Given the description of an element on the screen output the (x, y) to click on. 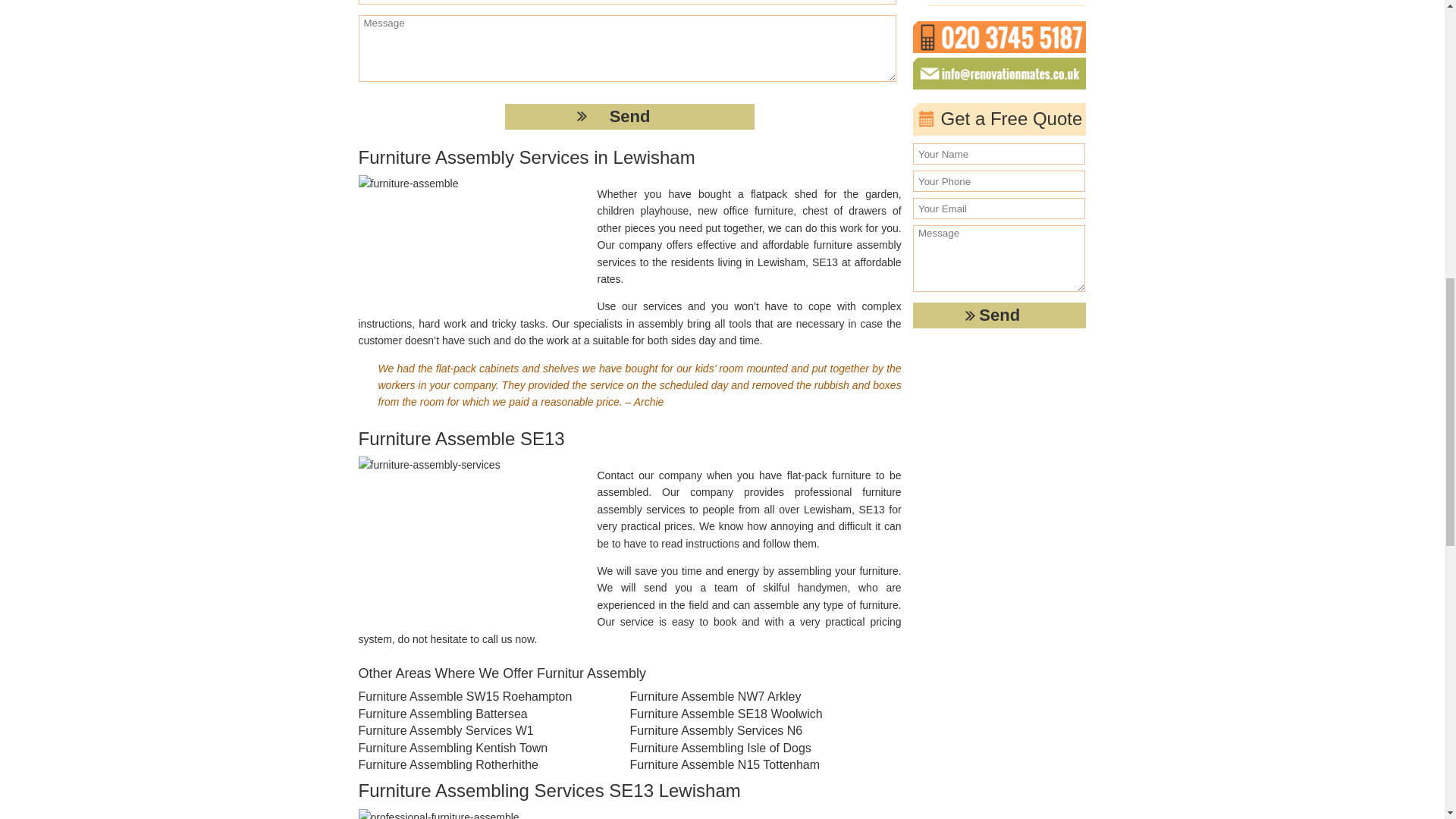
Furniture Assembling Isle of Dogs (752, 748)
Furniture Assembly Services W1 (480, 730)
Furniture Assemble N15 Tottenham (752, 764)
Send (629, 116)
Furniture Assembly Services N6 (752, 730)
Furniture Assemble SW15 Roehampton (480, 696)
Furniture Assemble NW7  Arkley (752, 696)
Furniture Assembling Battersea (480, 713)
Furniture Assemble SE18  Woolwich (752, 713)
Send (999, 315)
Furniture Assembling Rotherhithe (480, 764)
Furniture Assembly Services N6  (752, 730)
Send (629, 116)
Furniture Assembling Isle of Dogs (752, 748)
Furniture Assemble SE18 Woolwich (752, 713)
